Given the description of an element on the screen output the (x, y) to click on. 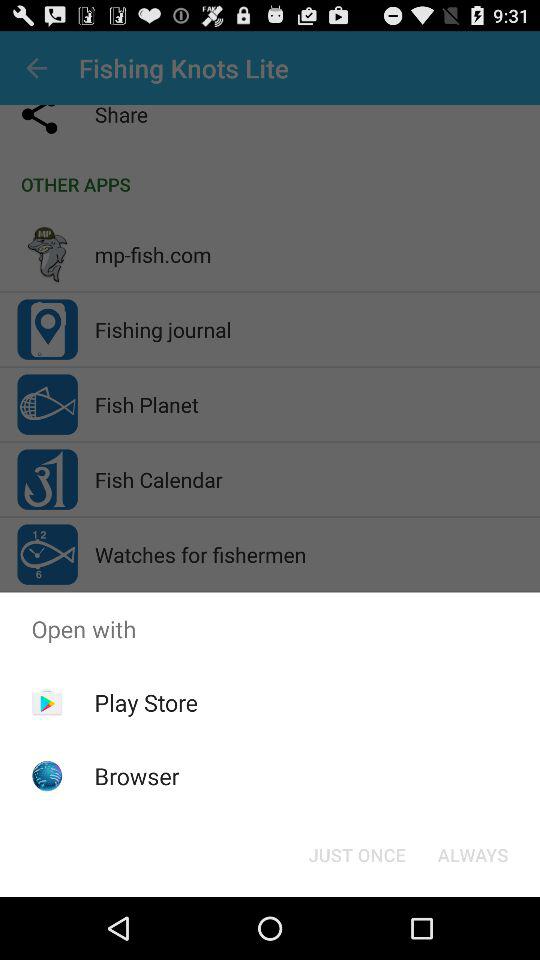
open icon below play store app (136, 775)
